Given the description of an element on the screen output the (x, y) to click on. 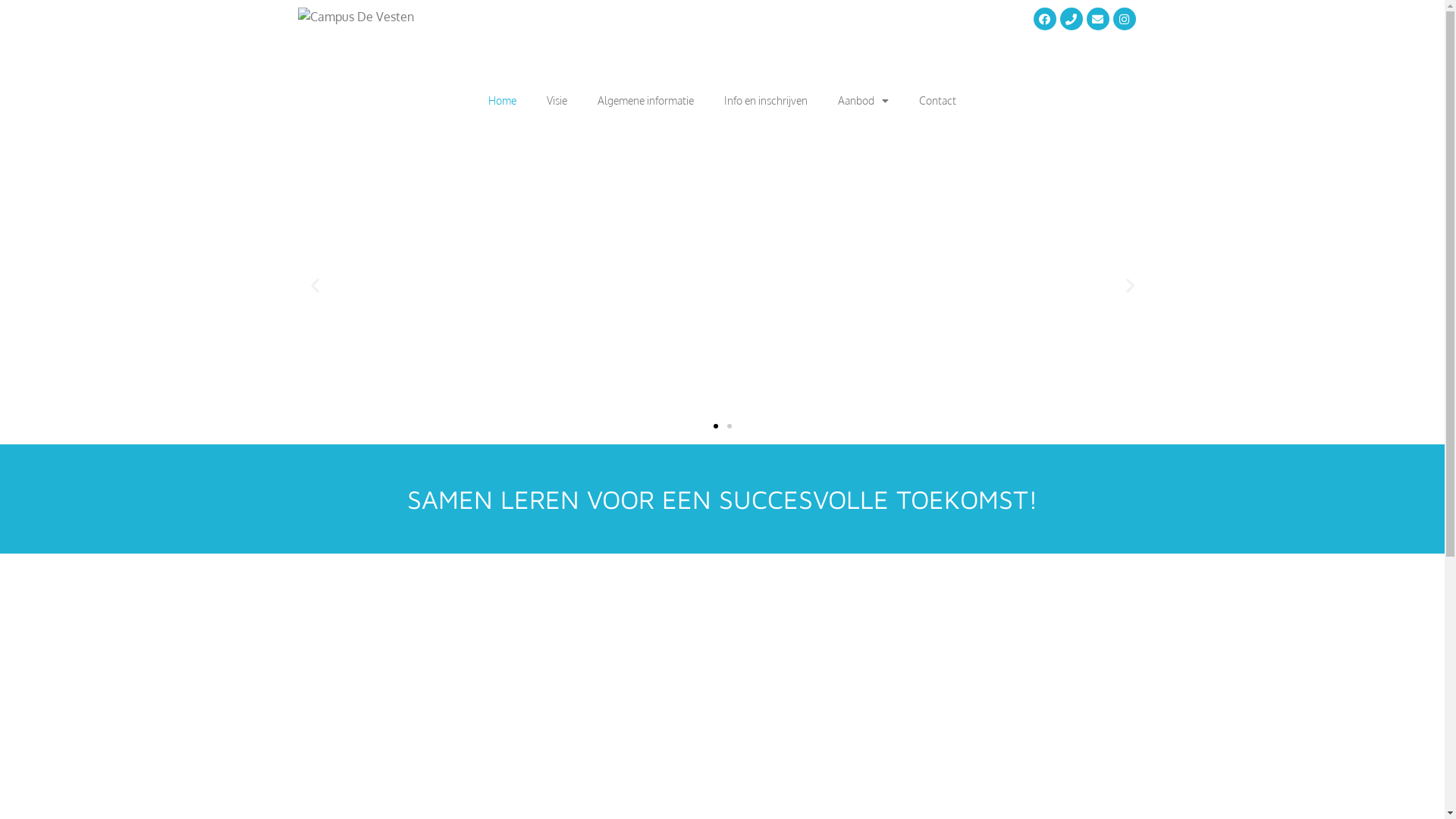
Home Element type: text (502, 100)
Contact Element type: text (937, 100)
Info en inschrijven Element type: text (765, 100)
Aanbod Element type: text (862, 100)
Visie Element type: text (556, 100)
Algemene informatie Element type: text (645, 100)
